Given the description of an element on the screen output the (x, y) to click on. 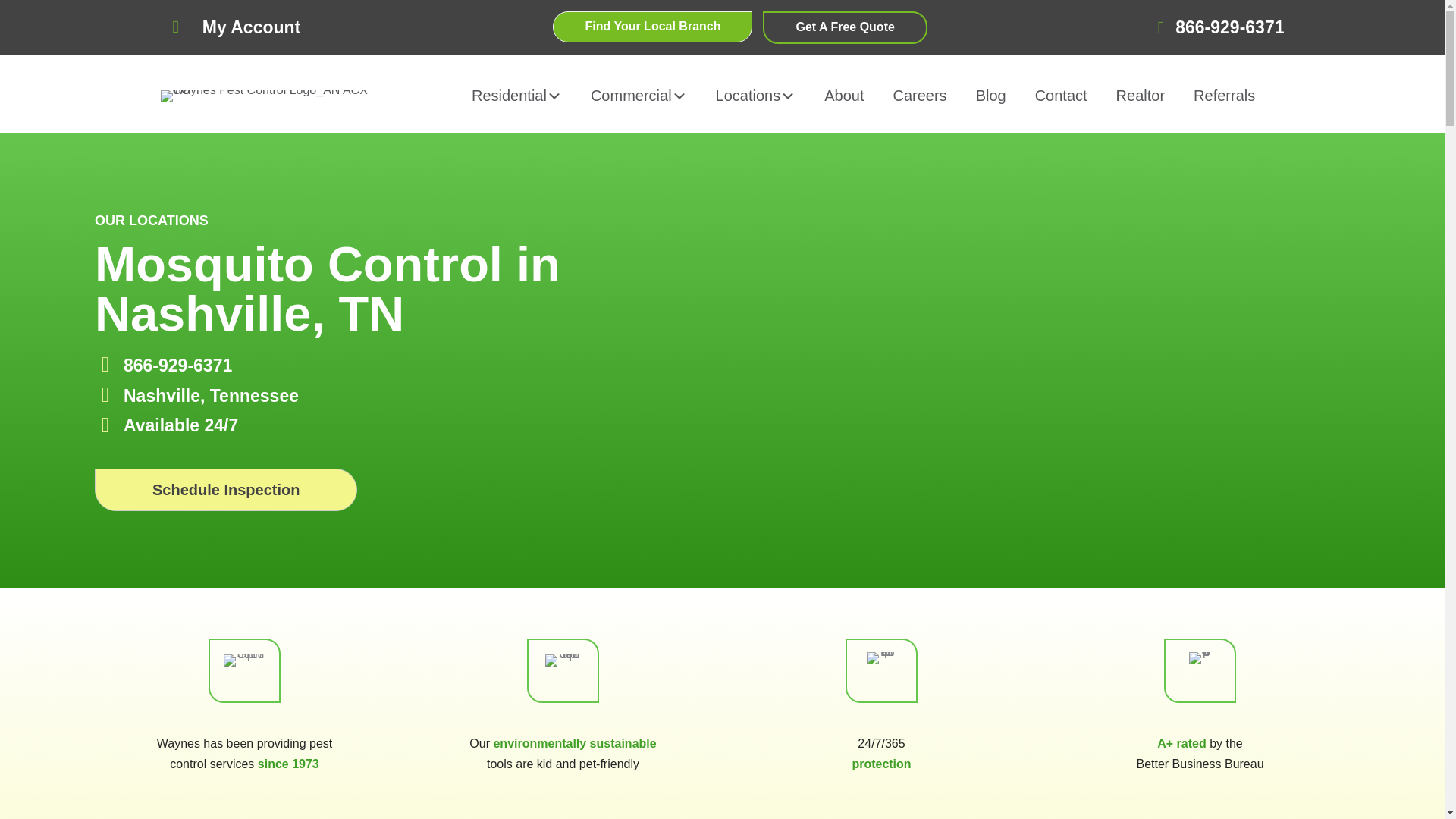
Get A Free Quote (844, 27)
866-929-6371 (1229, 27)
Commercial (637, 95)
Residential (516, 95)
Find Your Local Branch (652, 26)
Locations (754, 95)
My Account (251, 27)
